Given the description of an element on the screen output the (x, y) to click on. 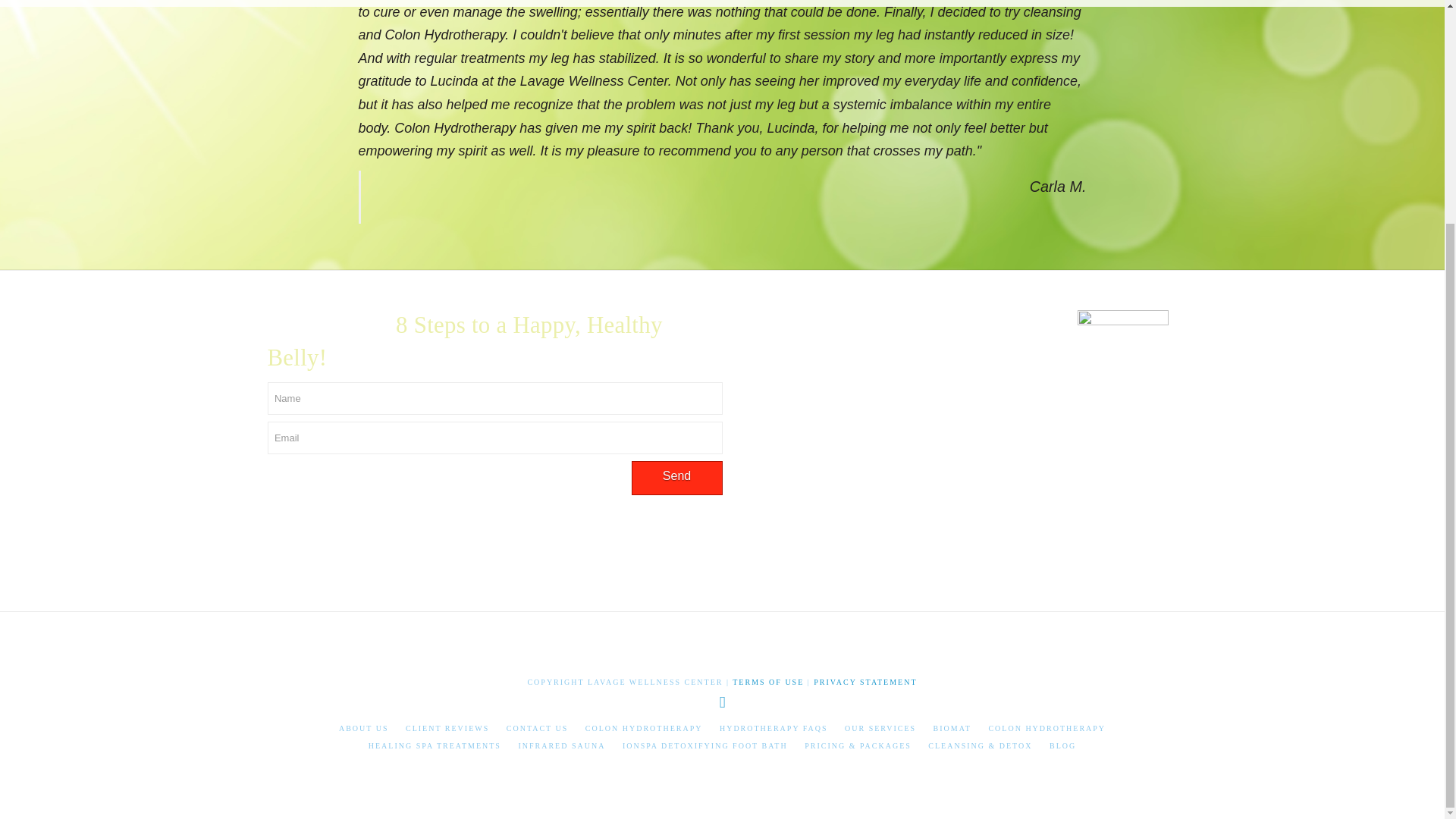
PRIVACY STATEMENT (865, 682)
Send (676, 478)
Send (676, 478)
ABOUT US (363, 728)
TERMS OF USE (767, 682)
